Given the description of an element on the screen output the (x, y) to click on. 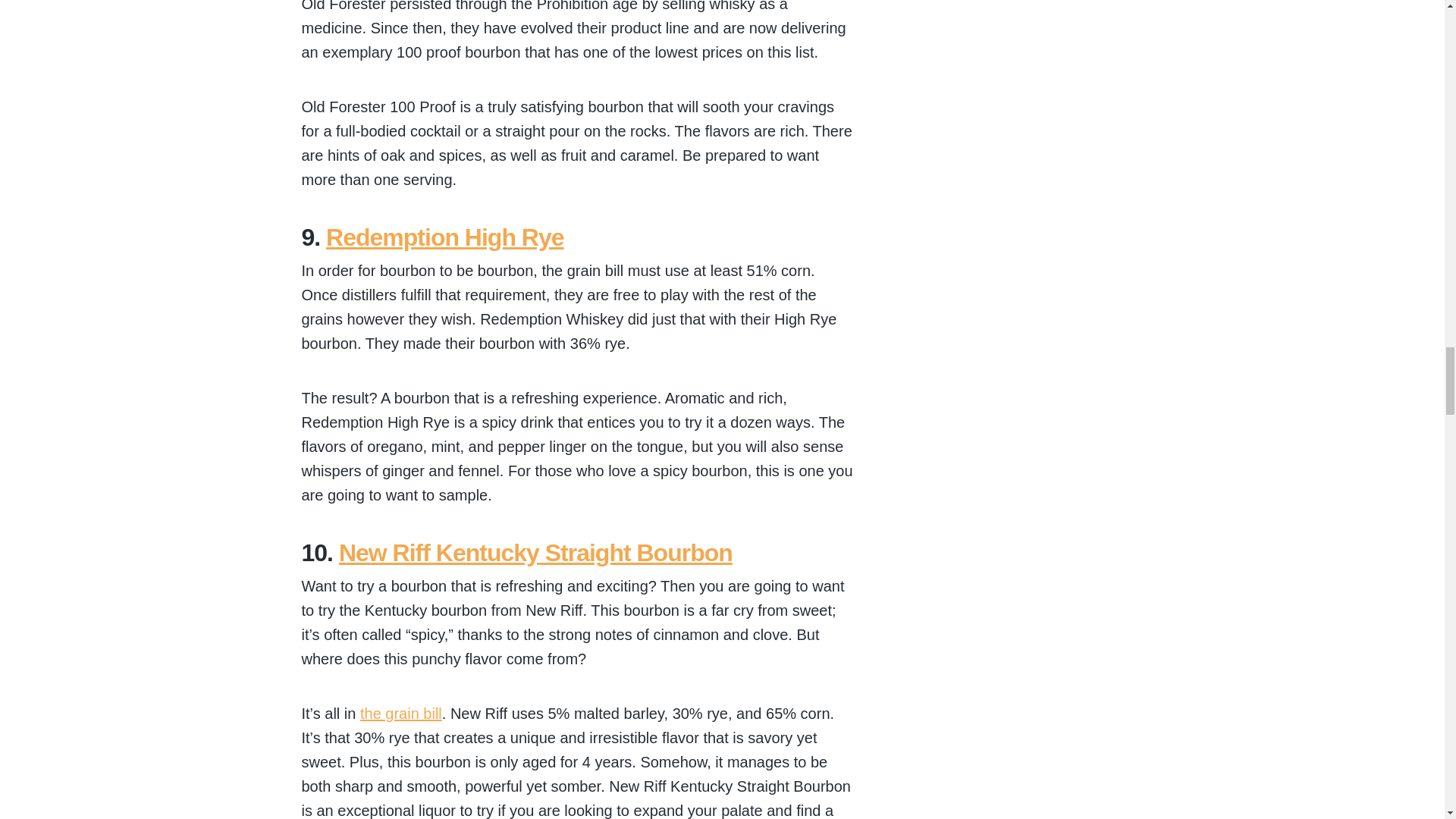
New Riff Kentucky Straight Bourbon (535, 552)
Redemption High Rye (444, 236)
the grain bill (400, 713)
